Given the description of an element on the screen output the (x, y) to click on. 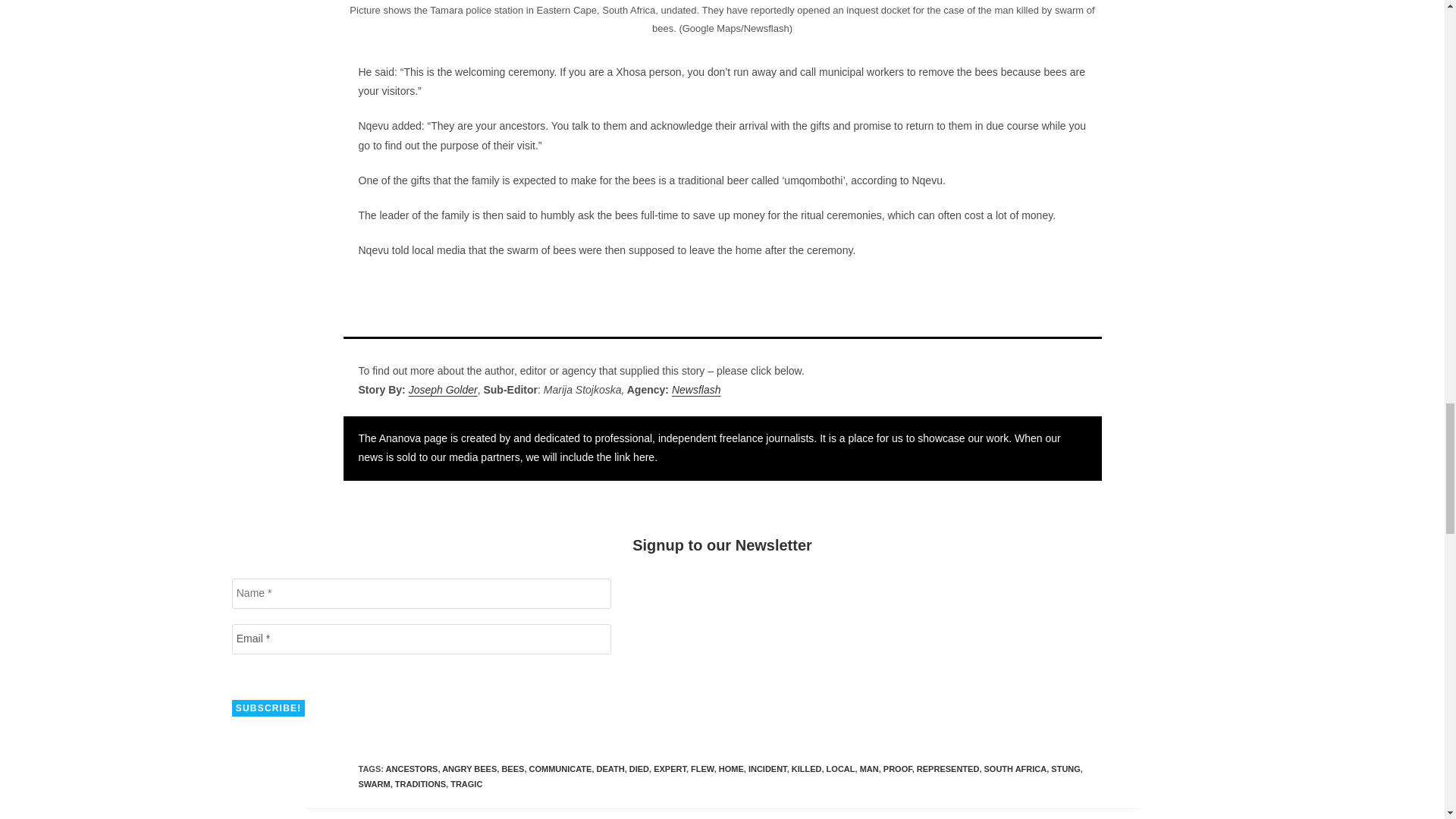
Email (421, 639)
Name (421, 593)
Subscribe! (268, 708)
